Given the description of an element on the screen output the (x, y) to click on. 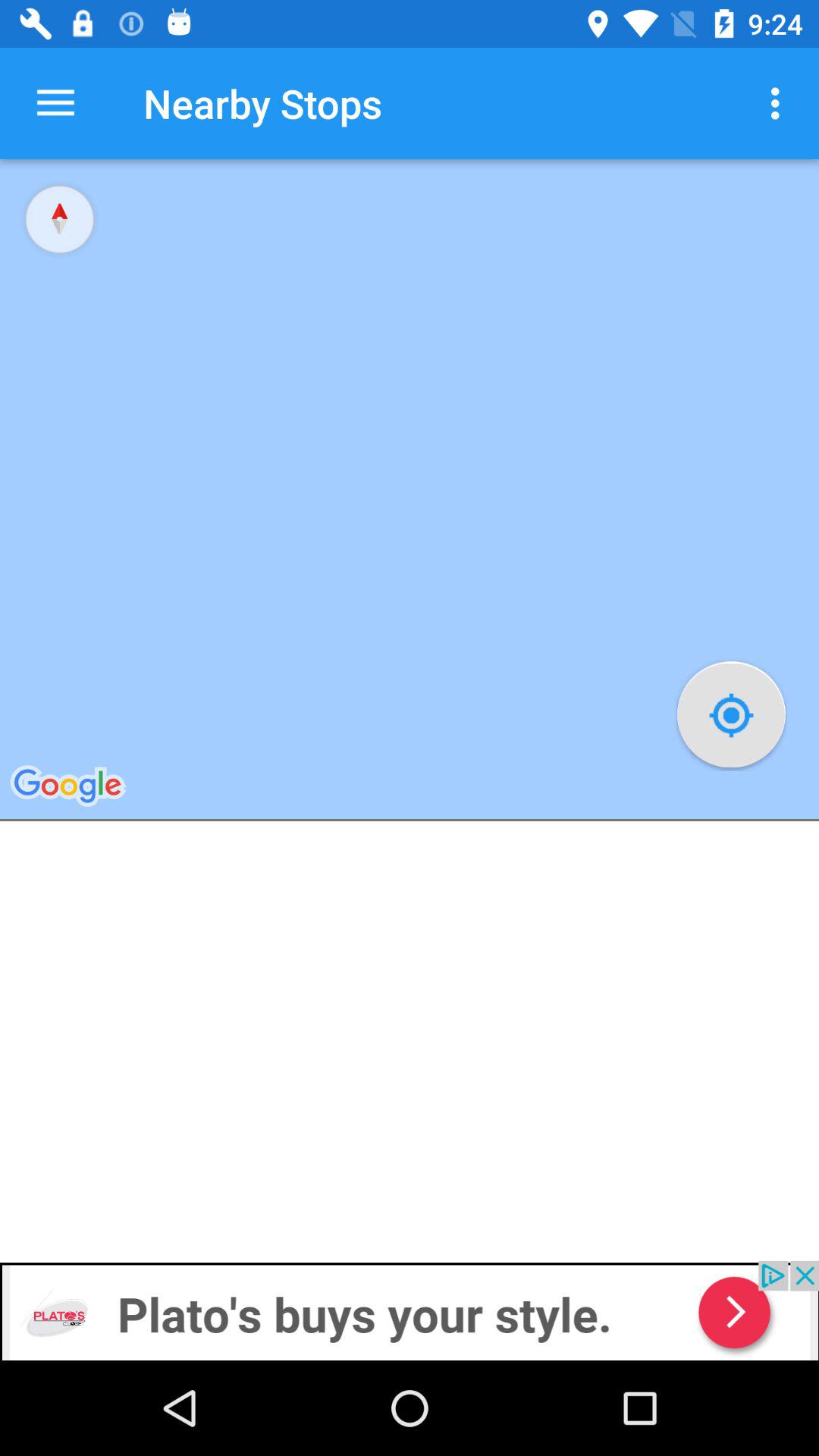
advertisement (409, 1310)
